Given the description of an element on the screen output the (x, y) to click on. 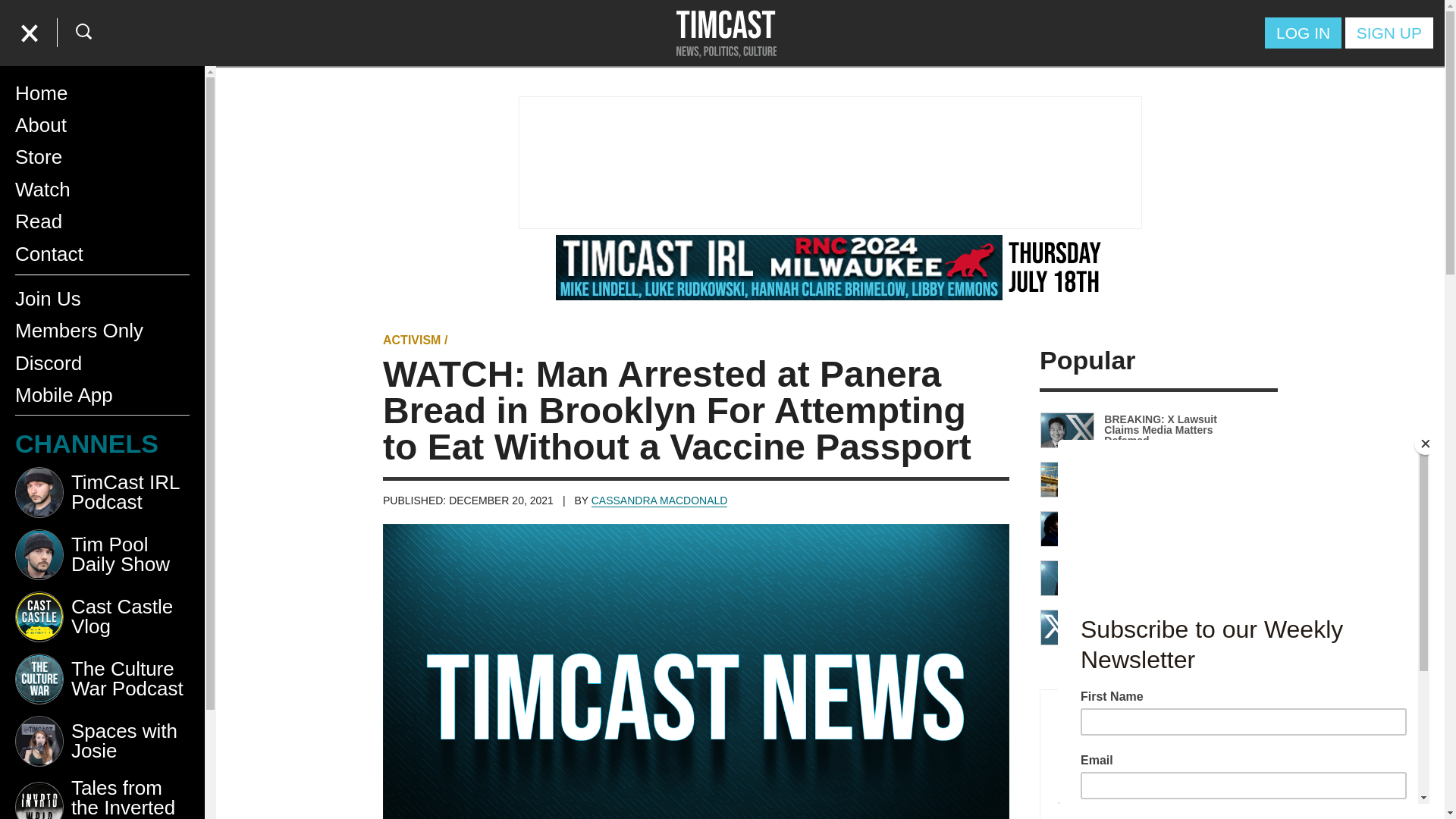
Store (101, 156)
Tales from the Inverted World (101, 798)
Spaces with Josie (101, 746)
Watch (101, 189)
Mobile App (101, 395)
Discord (101, 363)
The Culture War Podcast (101, 684)
Members Only (101, 330)
Cast Castle Vlog (101, 622)
LOG IN (1302, 32)
Tim Pool Daily Show (101, 560)
SIGN UP (1388, 32)
Home (101, 92)
Read (101, 221)
